Given the description of an element on the screen output the (x, y) to click on. 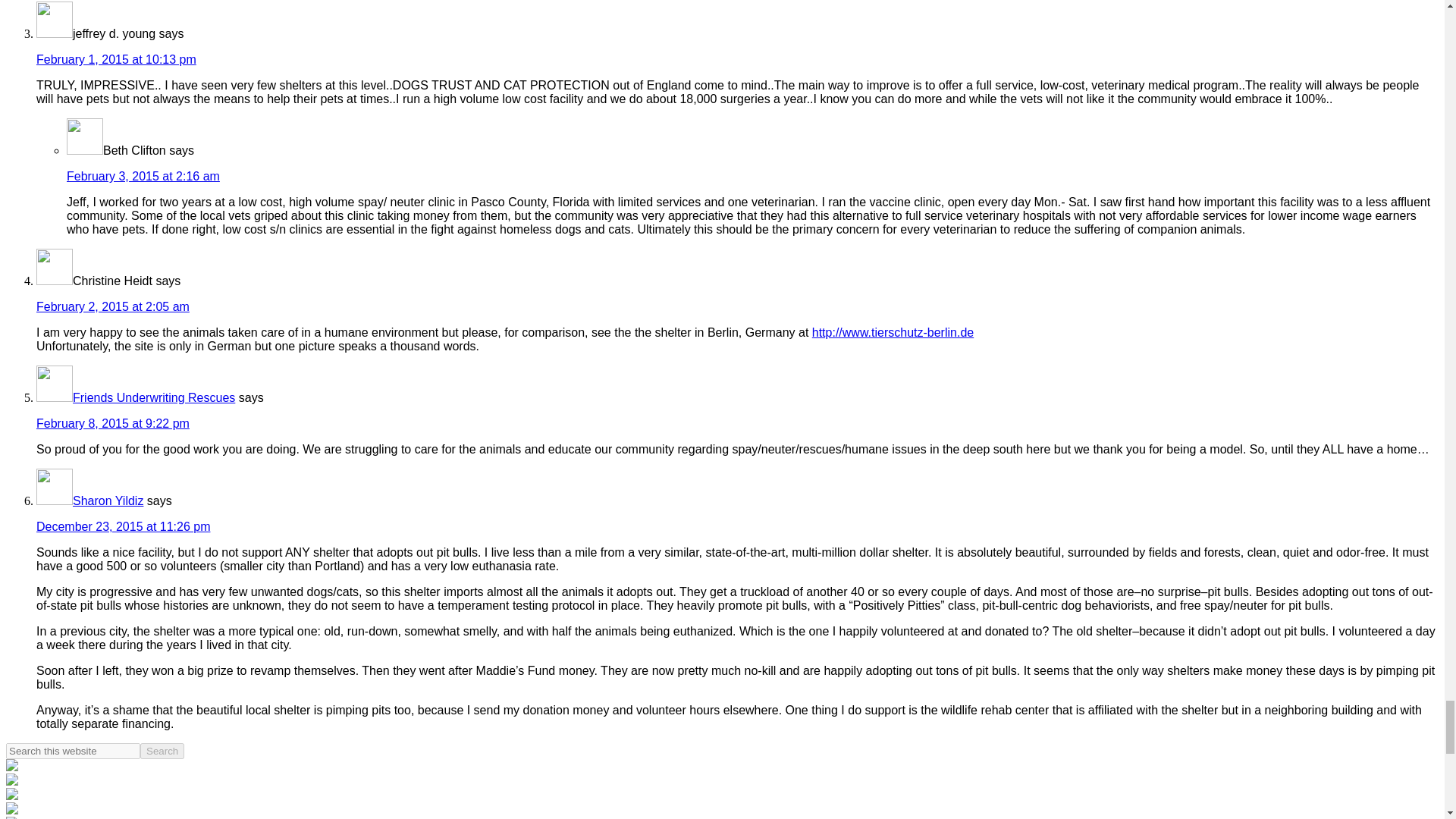
Search (161, 750)
Search (161, 750)
